Given the description of an element on the screen output the (x, y) to click on. 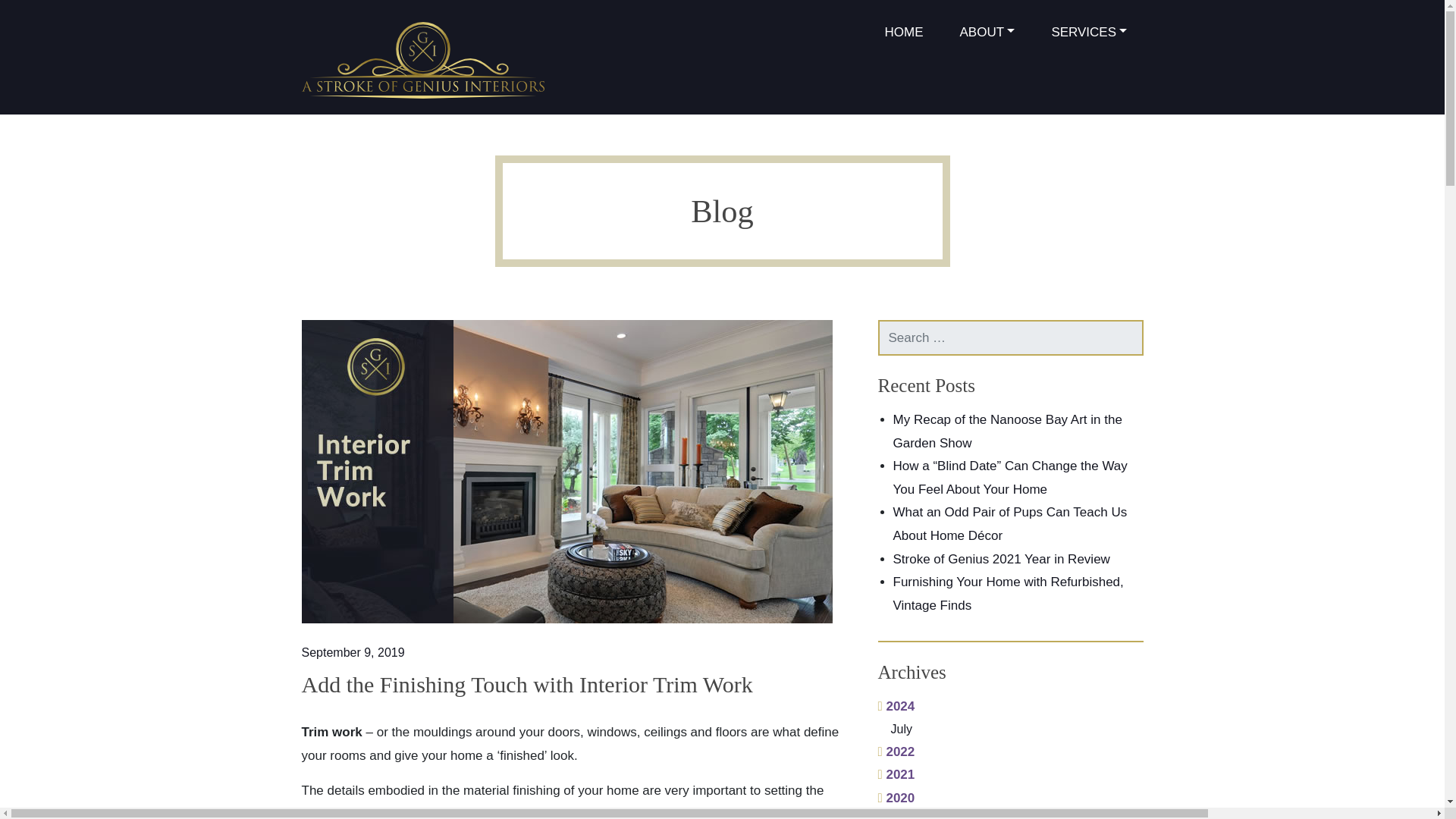
2024 (896, 706)
2022 (896, 751)
About (986, 32)
Stroke of Genius 2021 Year in Review (1001, 559)
SERVICES (1088, 32)
ABOUT (986, 32)
September 9, 2019 (352, 652)
Services (1088, 32)
My Recap of the Nanoose Bay Art in the Garden Show (1007, 431)
